Given the description of an element on the screen output the (x, y) to click on. 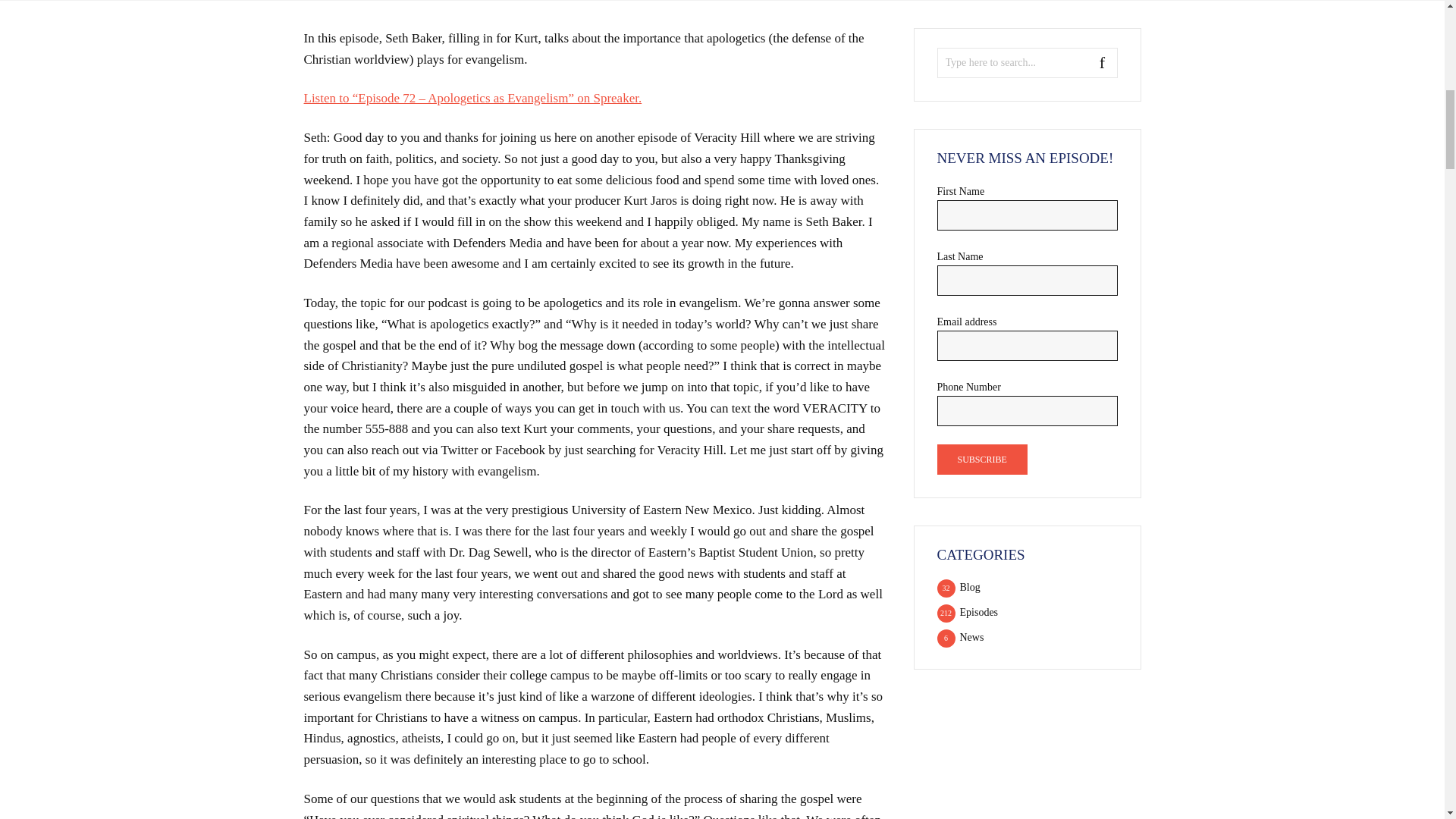
Subscribe (982, 459)
